Given the description of an element on the screen output the (x, y) to click on. 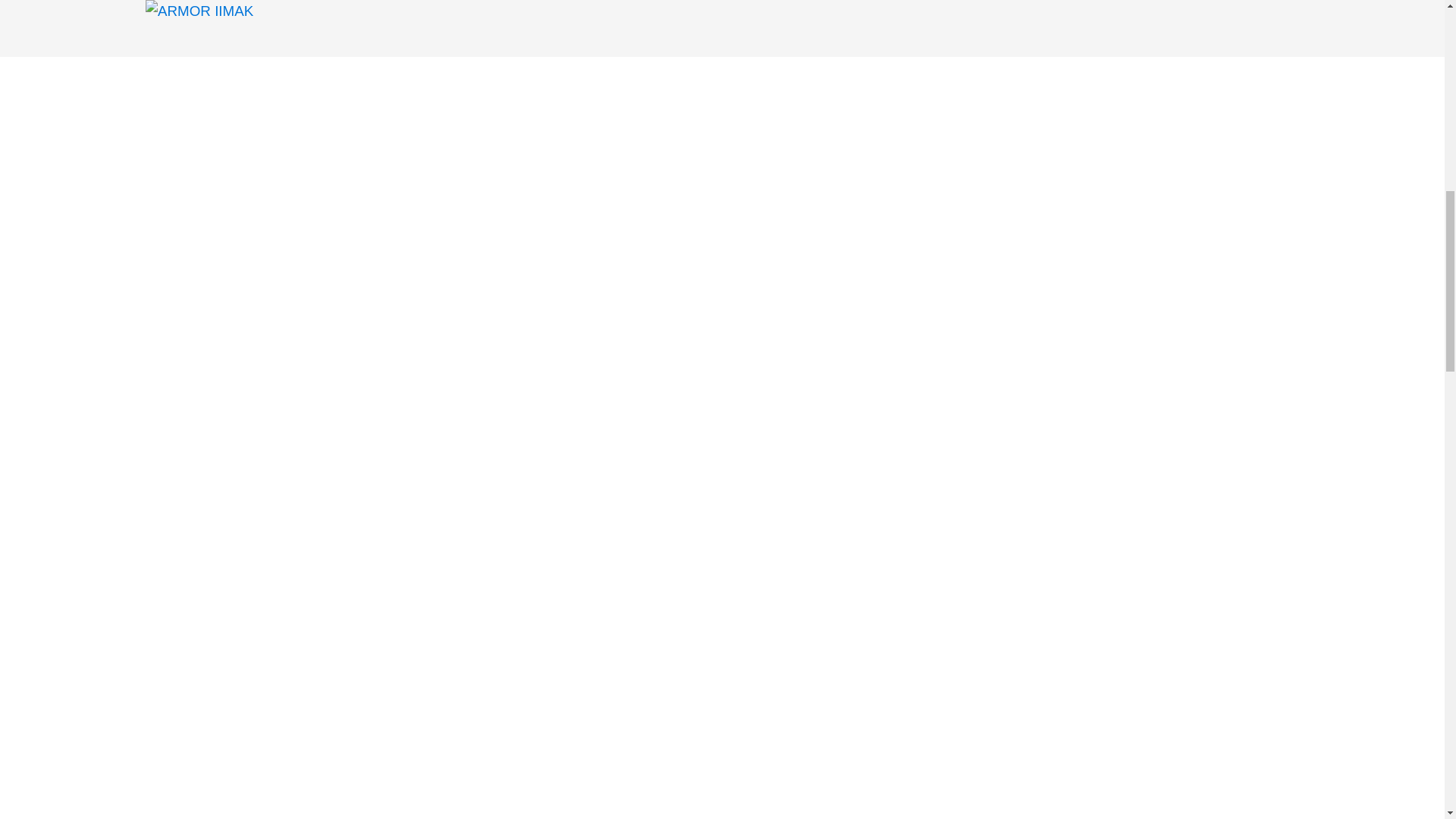
AWR 1 (1119, 243)
Constraints you may face with your food crate labels (523, 587)
PM308 (1071, 243)
SW200 (1117, 271)
AXR 100 (1229, 243)
APX 8 (1233, 271)
APR 1 (1070, 271)
NETMark IQ (1150, 299)
Crate and Tote Labels for Food (523, 217)
Ask an expert (1172, 363)
GP 725 i55 (1080, 299)
HIGH Mark (1176, 271)
APX 650 (1172, 243)
